Given the description of an element on the screen output the (x, y) to click on. 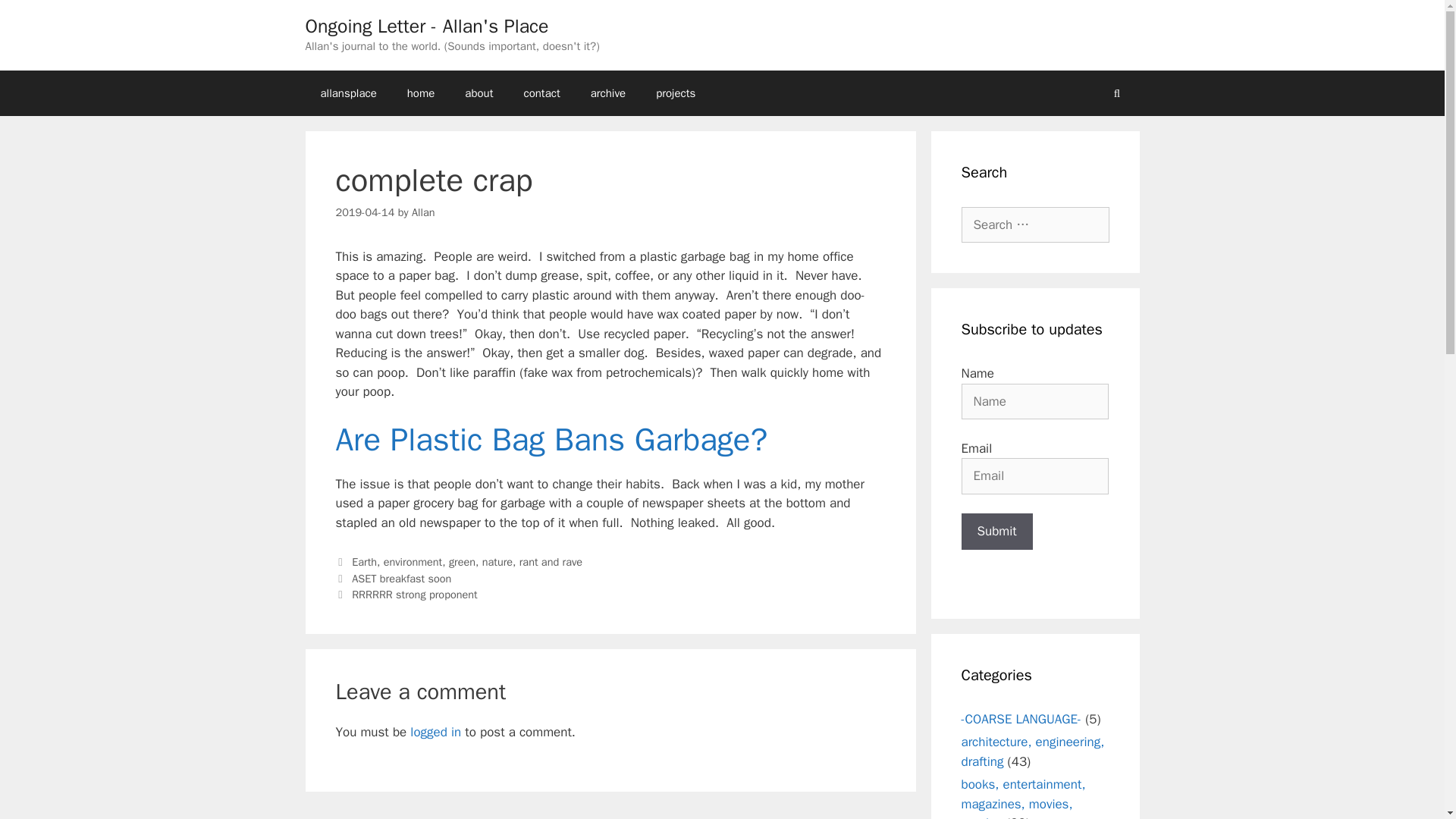
home (420, 92)
logged in (435, 731)
Allan (423, 212)
RRRRRR strong proponent (414, 594)
projects (675, 92)
Ongoing Letter - Allan's Place (426, 25)
Submit (996, 531)
archive (607, 92)
architecture, engineering, drafting (1032, 751)
ASET breakfast soon (401, 578)
Search for: (1034, 224)
Submit (996, 531)
allansplace (347, 92)
contact (541, 92)
about (478, 92)
